Given the description of an element on the screen output the (x, y) to click on. 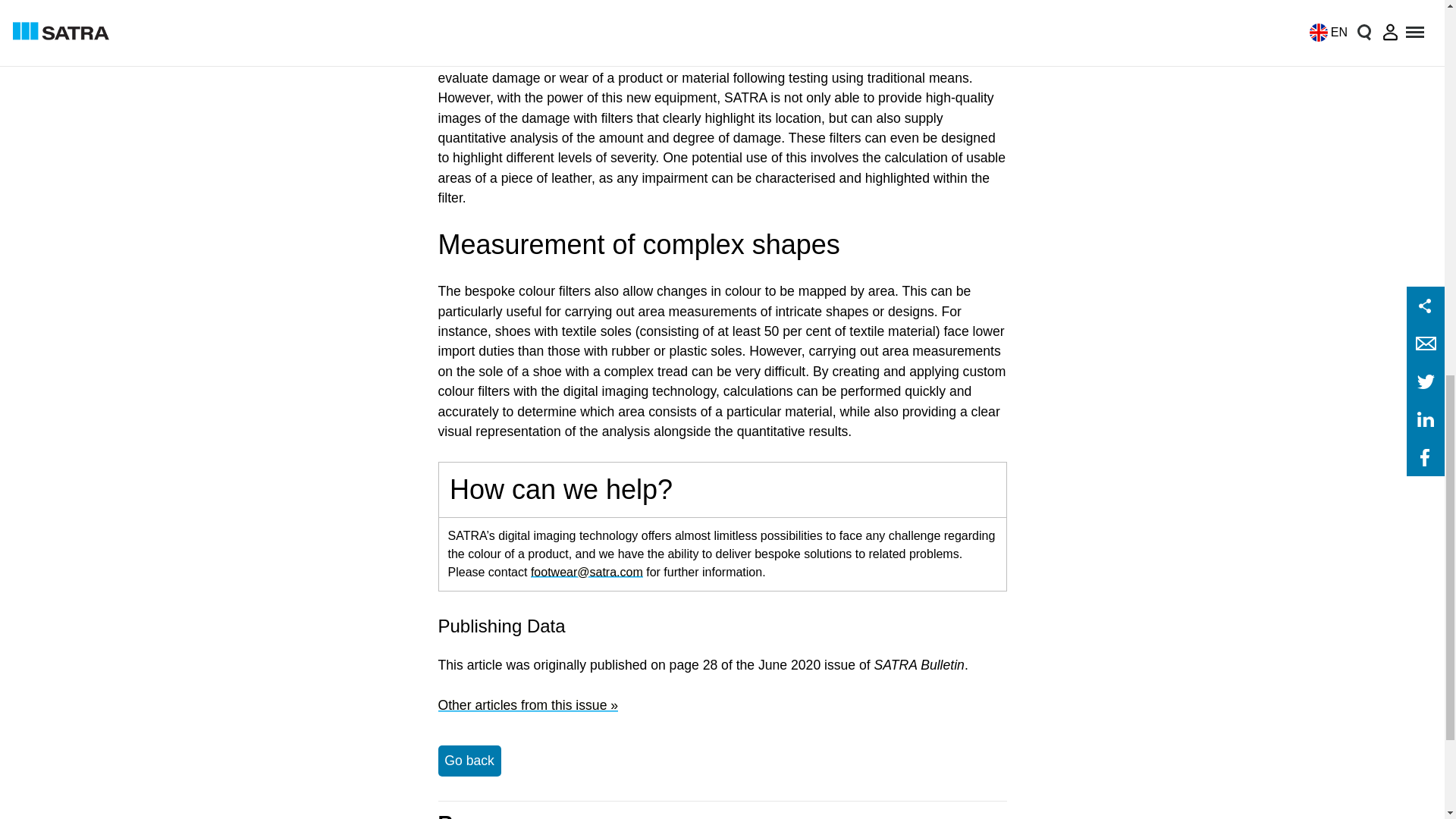
Go back (469, 760)
